Given the description of an element on the screen output the (x, y) to click on. 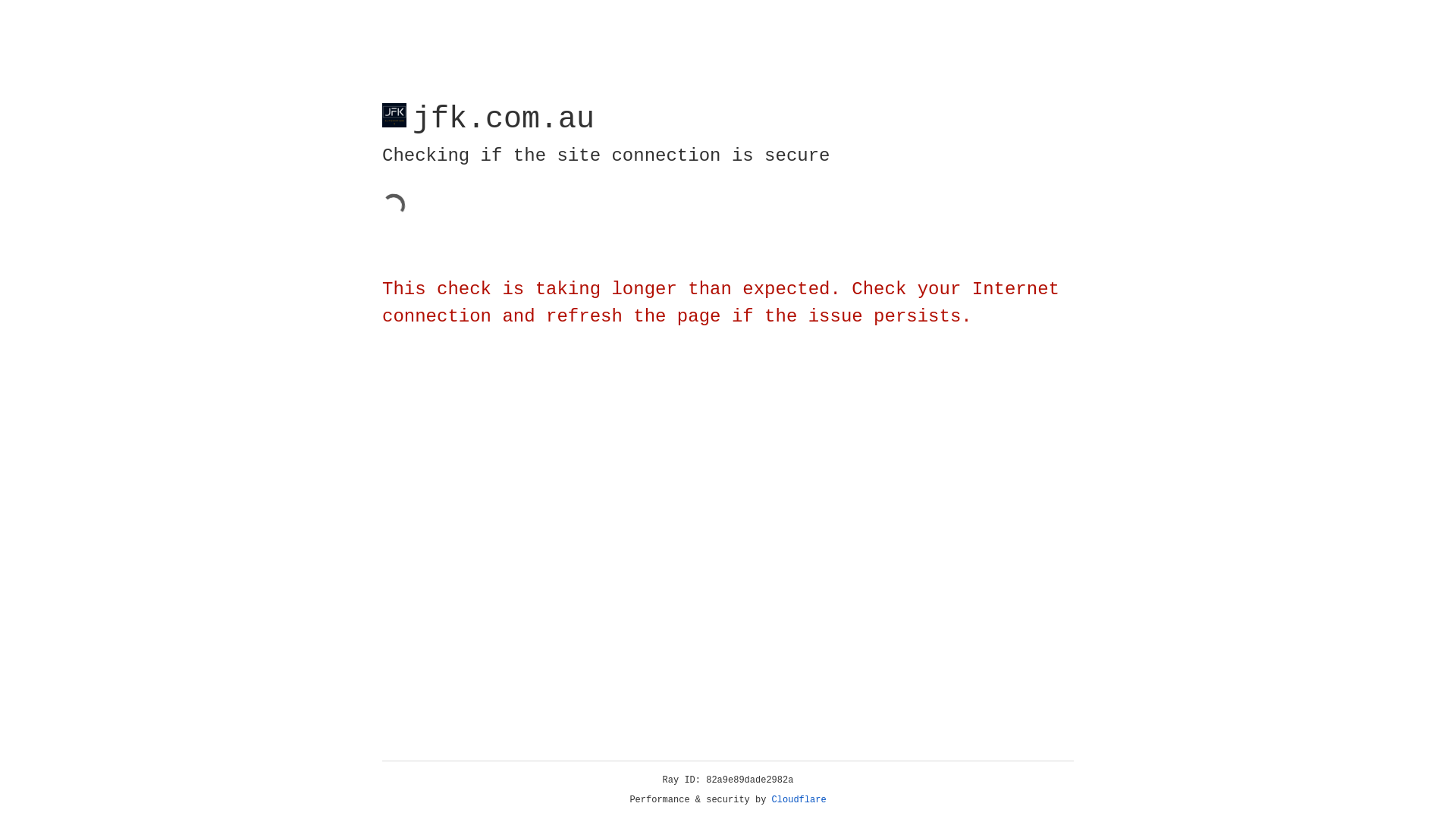
Cloudflare Element type: text (798, 799)
